Given the description of an element on the screen output the (x, y) to click on. 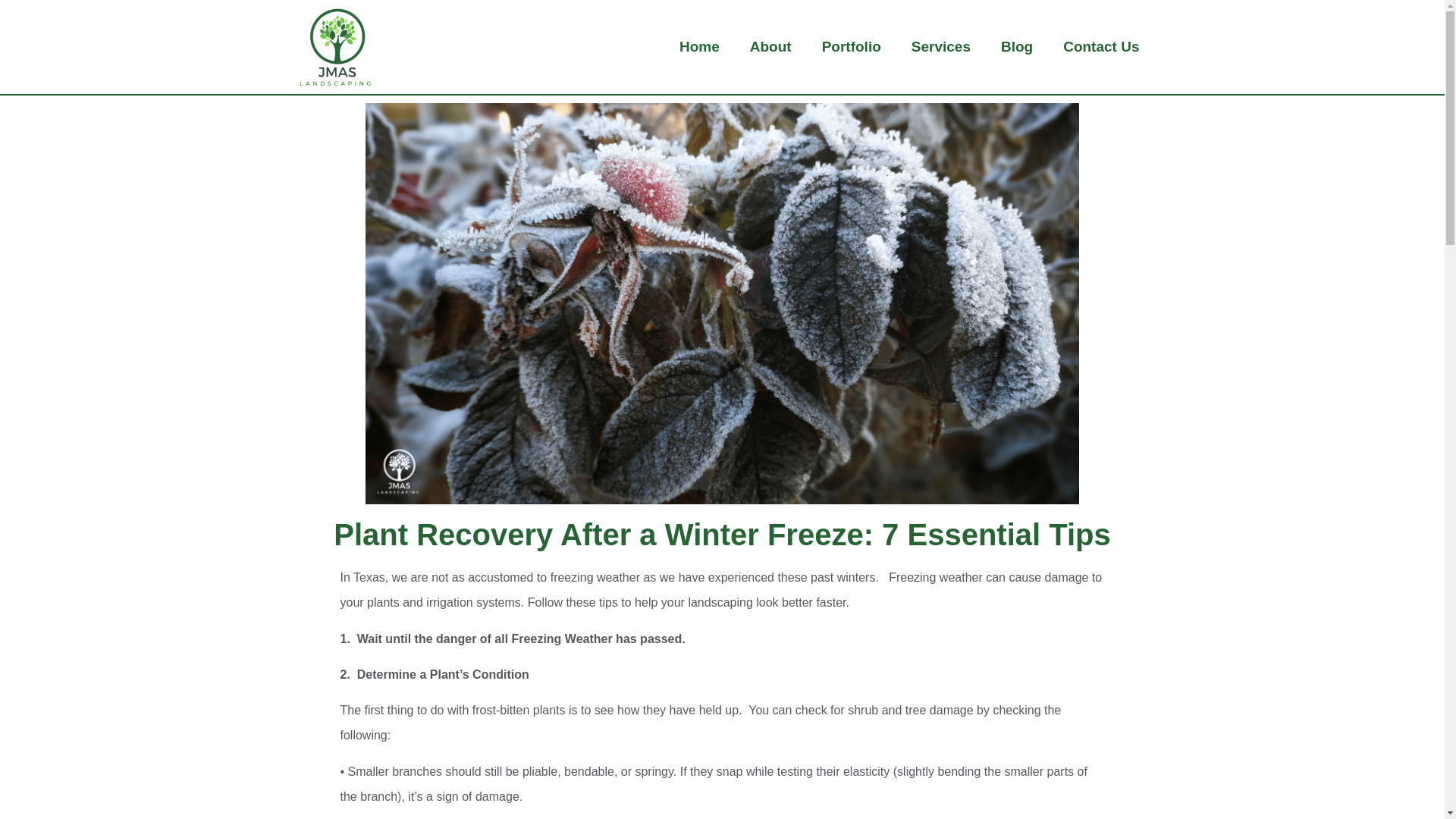
Contact Us (1101, 46)
Blog (1016, 46)
Services (940, 46)
Portfolio (851, 46)
About (770, 46)
Home (699, 46)
